Given the description of an element on the screen output the (x, y) to click on. 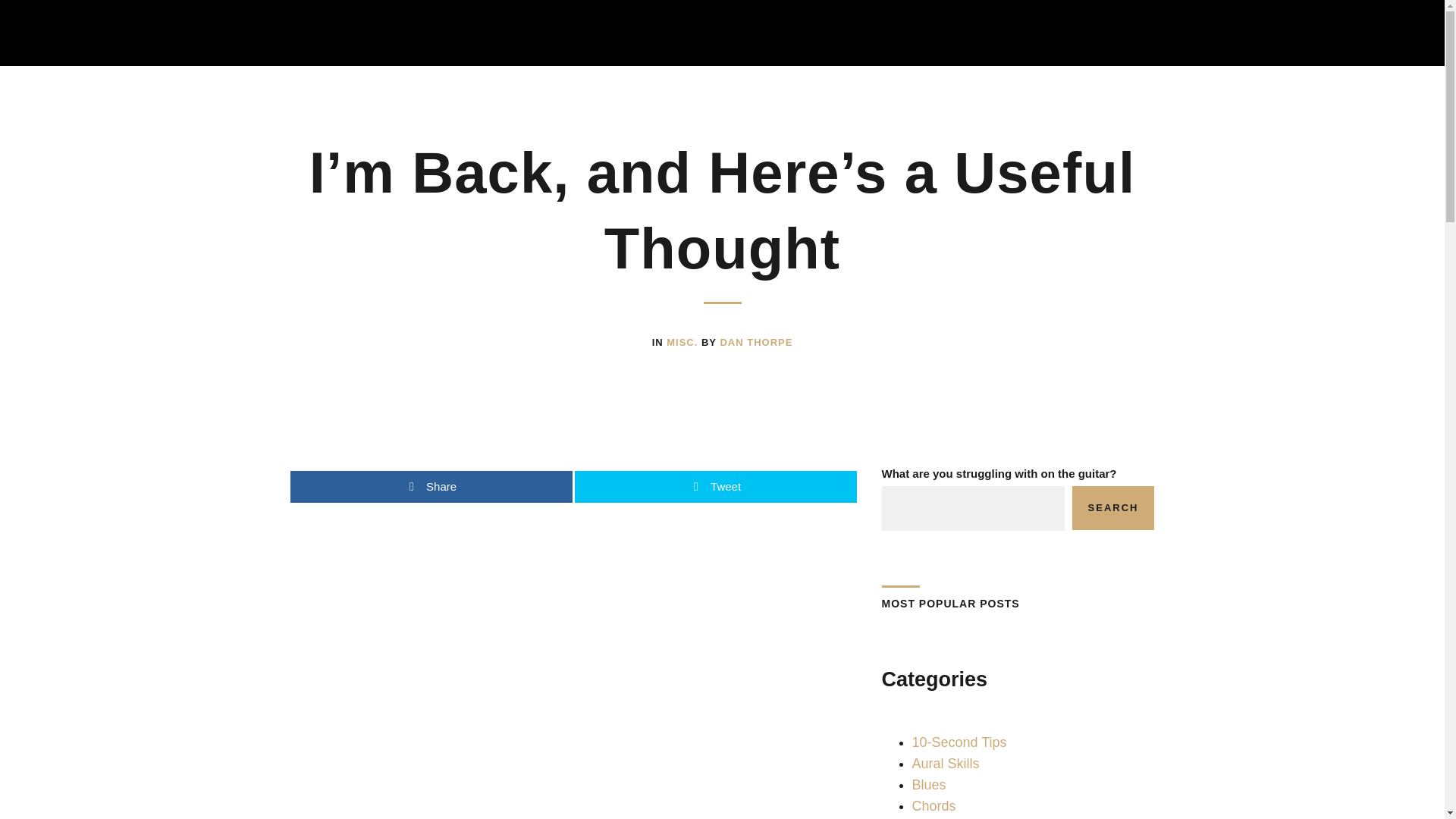
10-Second Tips (958, 742)
Dan Thorpe (755, 342)
Blues (927, 784)
SEARCH (1112, 507)
MISC. (683, 342)
Aural Skills (944, 763)
DAN THORPE (755, 342)
View all posts in: Misc. (683, 342)
Chords (933, 806)
Share (430, 486)
